Given the description of an element on the screen output the (x, y) to click on. 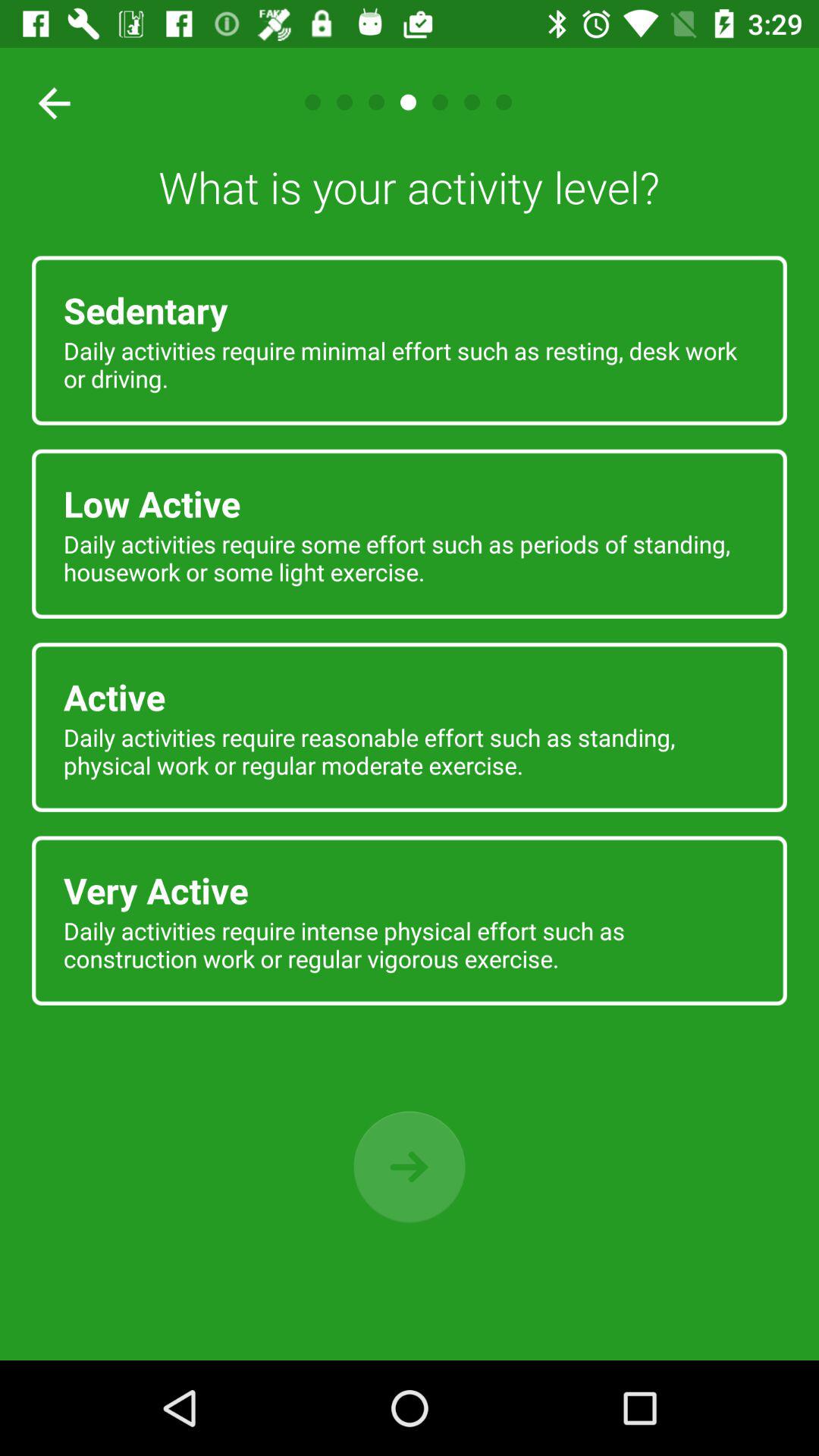
next (409, 1166)
